Given the description of an element on the screen output the (x, y) to click on. 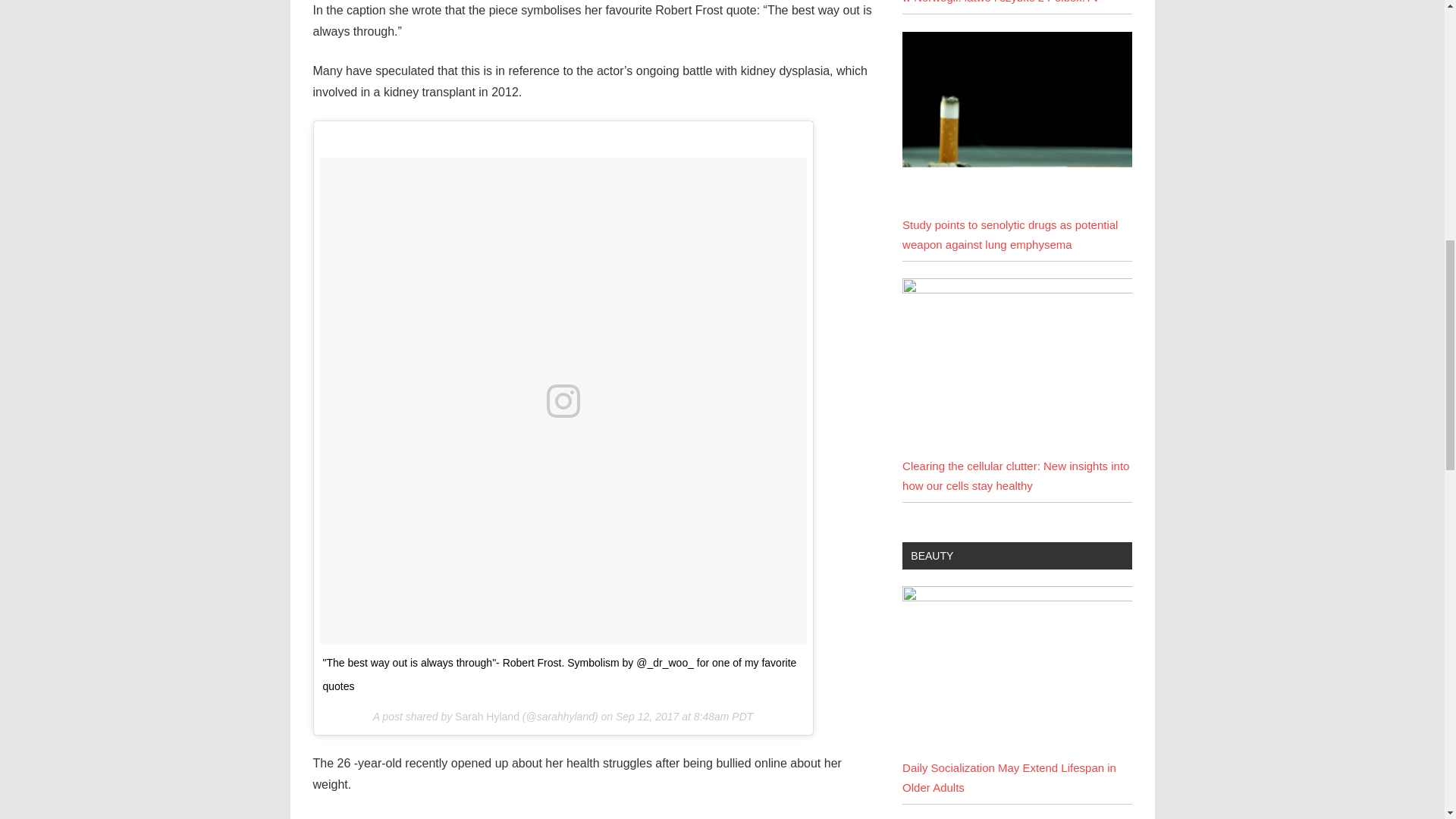
Daily Socialization May Extend Lifespan in Older Adults (1009, 777)
Daily Socialization May Extend Lifespan in Older Adults (1016, 672)
Sarah Hyland (486, 716)
Daily Socialization May Extend Lifespan in Older Adults (1016, 596)
